Given the description of an element on the screen output the (x, y) to click on. 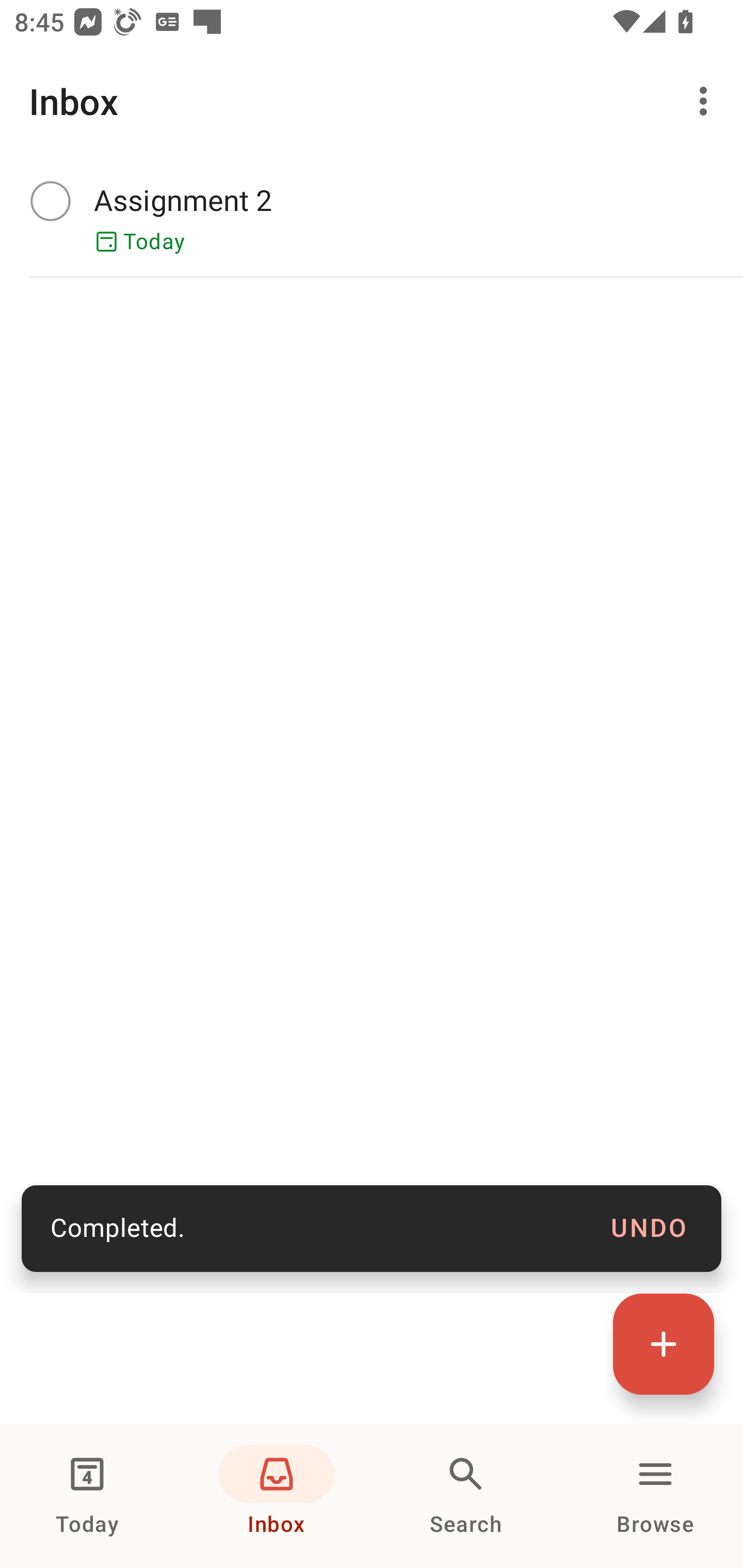
Inbox More options (371, 100)
More options (706, 101)
Complete Assignment 2 Today (371, 216)
Complete (50, 200)
UNDO (648, 1228)
Quick add (663, 1343)
Today (87, 1495)
Search (465, 1495)
Browse (655, 1495)
